Given the description of an element on the screen output the (x, y) to click on. 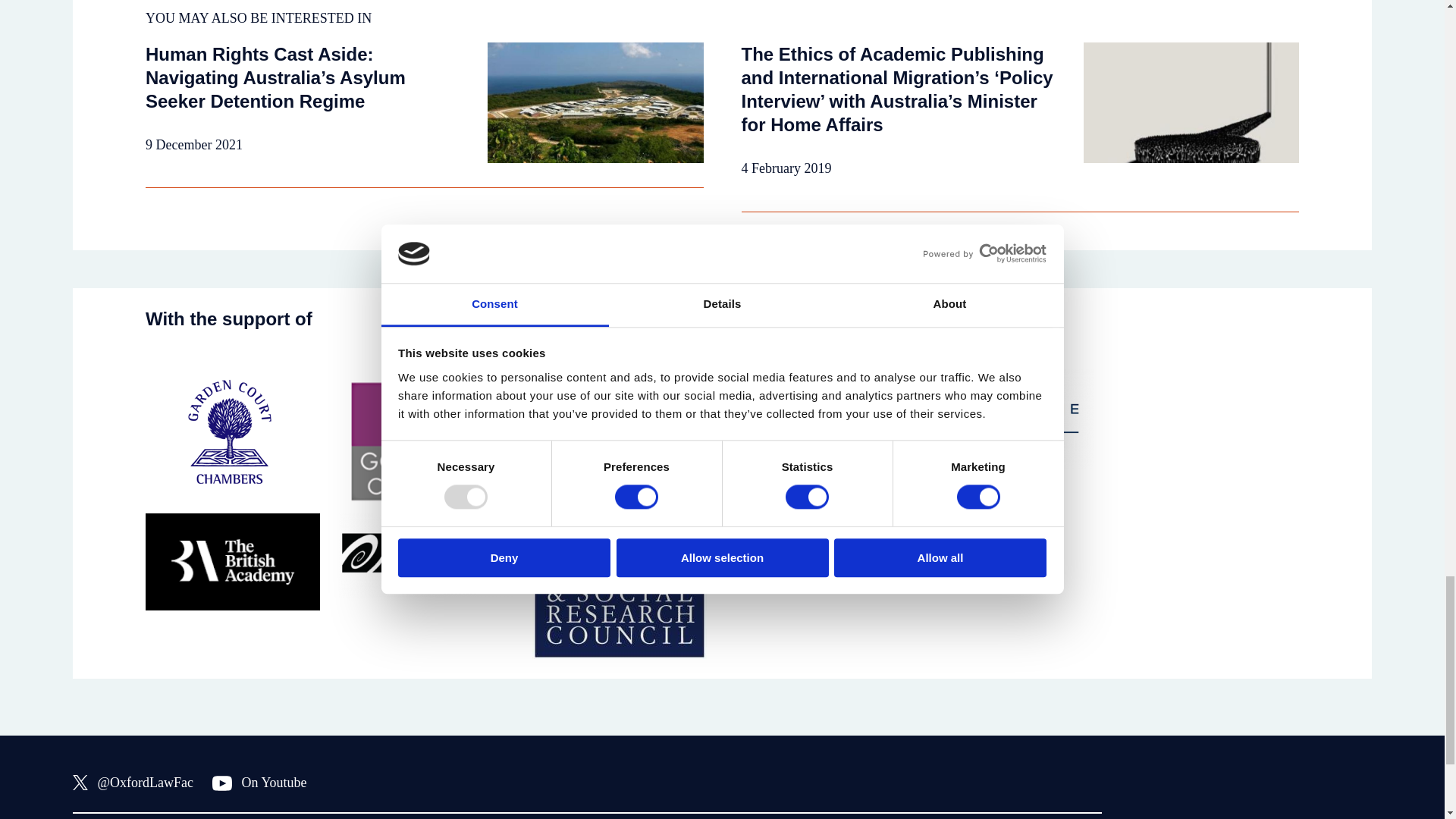
Twitter, Oxford law blogs (132, 782)
Youtube, Oxford law blogs (259, 783)
